Given the description of an element on the screen output the (x, y) to click on. 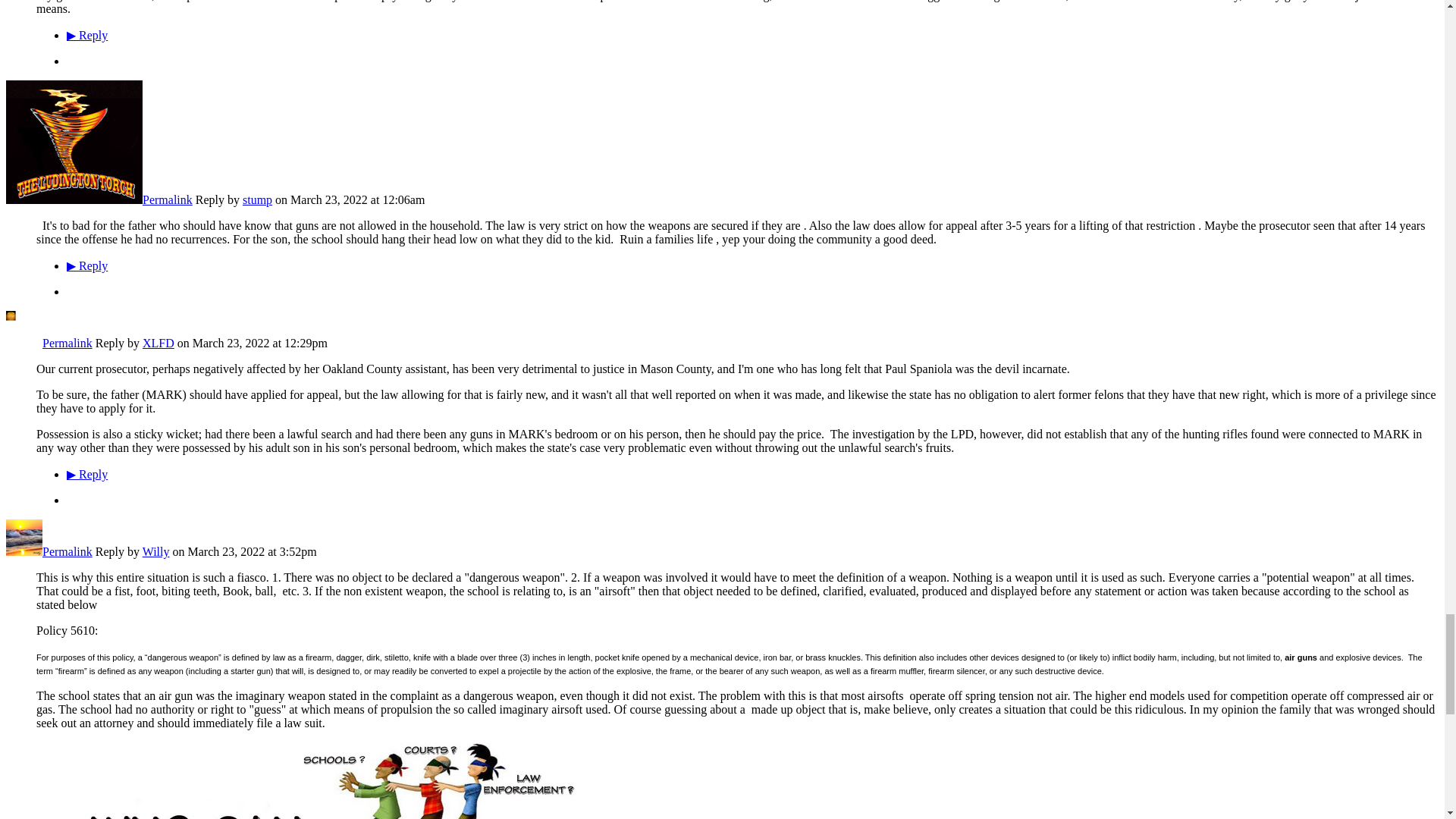
XLFD (23, 342)
Willy (23, 551)
stump (73, 199)
Permalink to this Reply (167, 199)
Permalink to this Reply (67, 342)
Permalink to this Reply (67, 551)
